Given the description of an element on the screen output the (x, y) to click on. 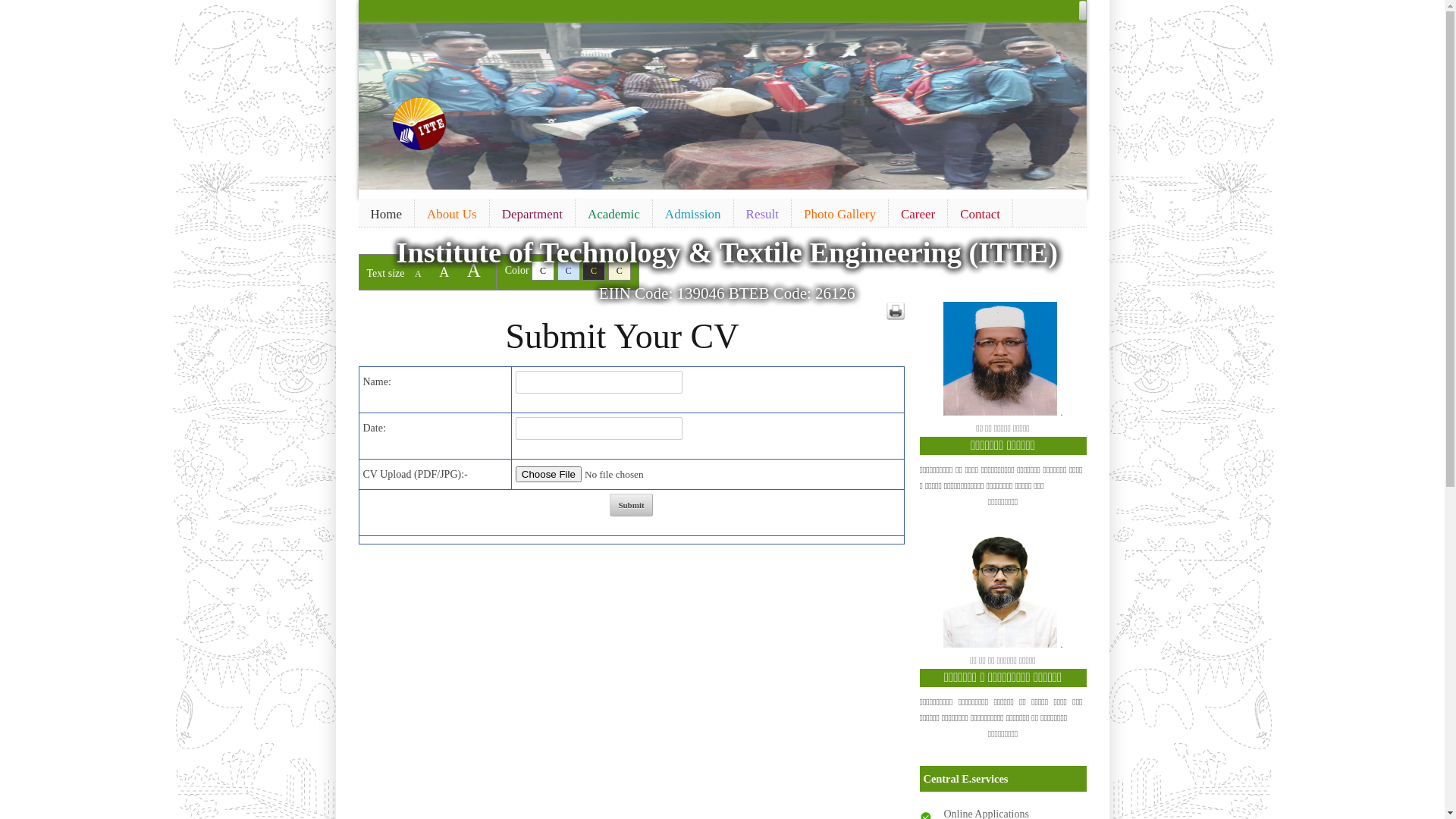
Admission Element type: text (692, 214)
C Element type: text (619, 270)
Department Element type: text (531, 214)
Photo Gallery Element type: text (839, 214)
Previous Element type: text (371, 103)
Home Element type: text (385, 214)
Result Element type: text (762, 214)
About Us Element type: text (451, 214)
Contact Element type: text (979, 214)
C Element type: text (568, 270)
A Element type: text (443, 271)
C Element type: text (542, 270)
A Element type: text (418, 273)
A Element type: text (473, 270)
Career Element type: text (917, 214)
Next Element type: text (1071, 103)
C Element type: text (593, 270)
Submit Element type: text (630, 504)
Print Element type: hover (894, 310)
Academic Element type: text (613, 214)
